Given the description of an element on the screen output the (x, y) to click on. 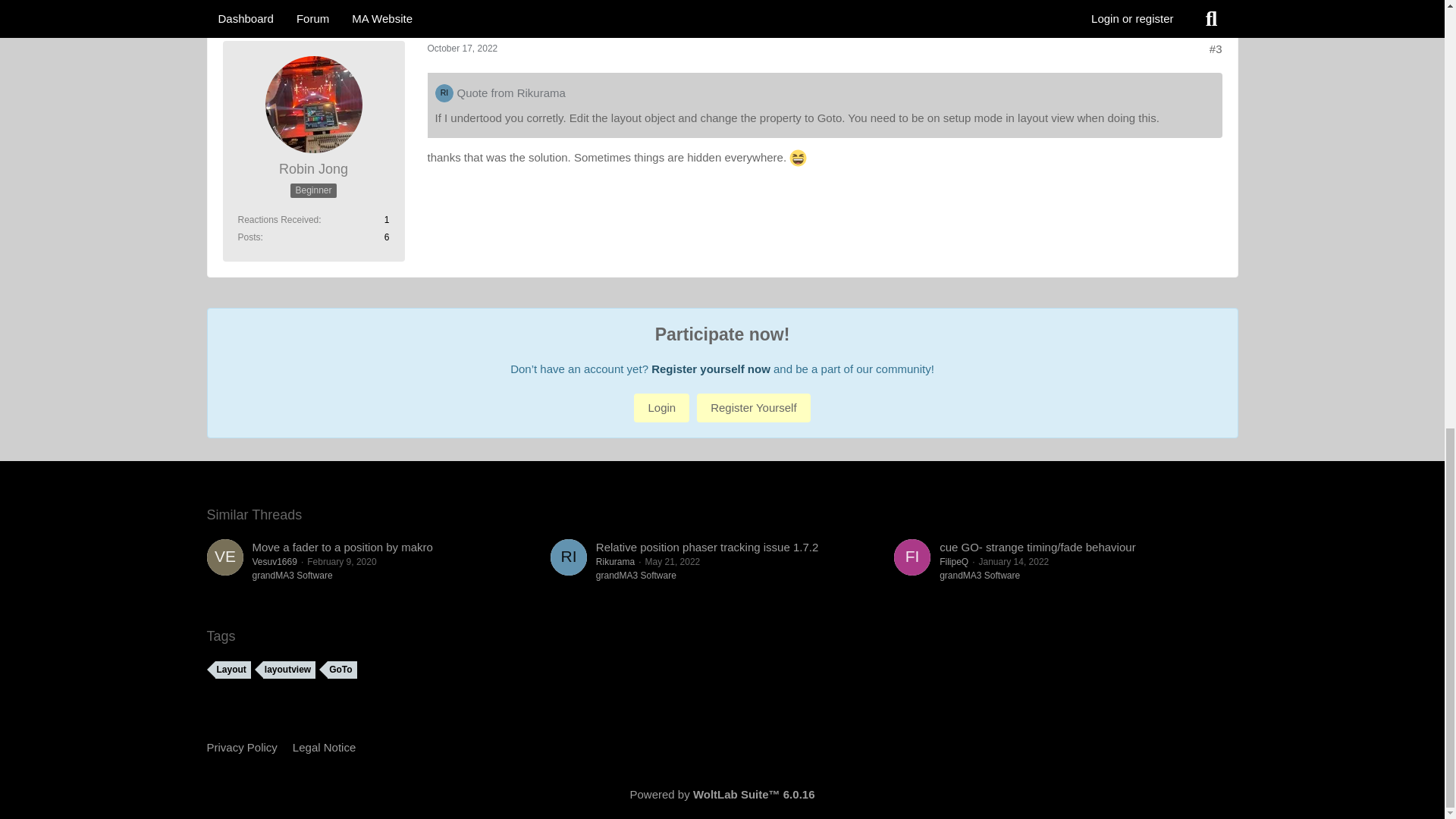
October 17, 2022October 17, 2022 at 7:36 PM (462, 48)
biggrin (797, 158)
Quote from Rikurama (510, 92)
Reactions Received (278, 219)
Posts (249, 236)
Robin Jong (313, 169)
